Given the description of an element on the screen output the (x, y) to click on. 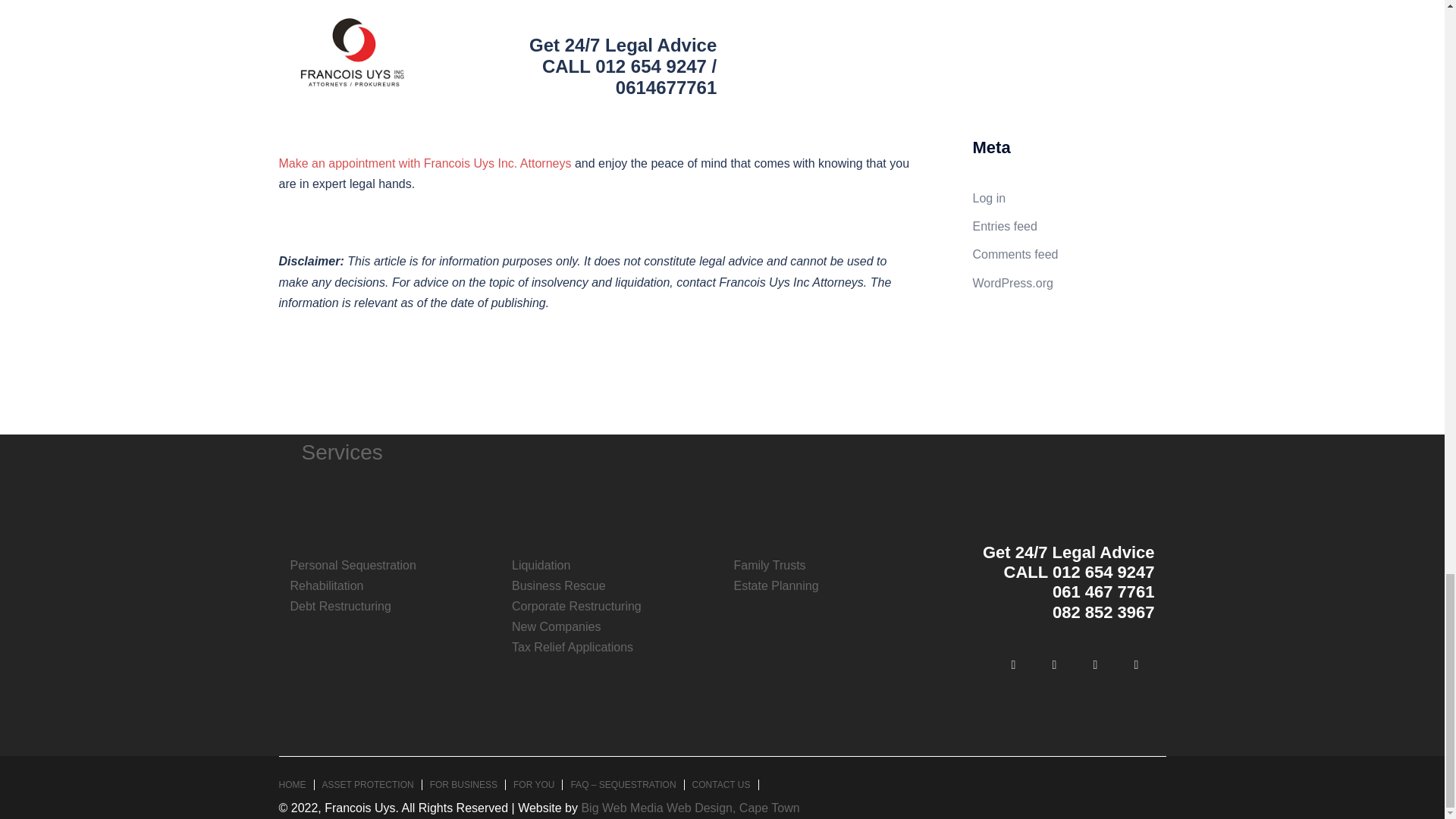
Make an appointment with Francois Uys Inc. Attorneys (425, 163)
Francois Uys Inc Attorneys on X Twitter (1095, 665)
Francois Uys Inc Attorneys on Facebook (1012, 665)
Francois Uys Inc Attorneys on Google (1136, 665)
Francois Uys Incorporated Attorneys (377, 23)
Francois Uys Inc Attorneys on Linkedin (1053, 665)
